Given the description of an element on the screen output the (x, y) to click on. 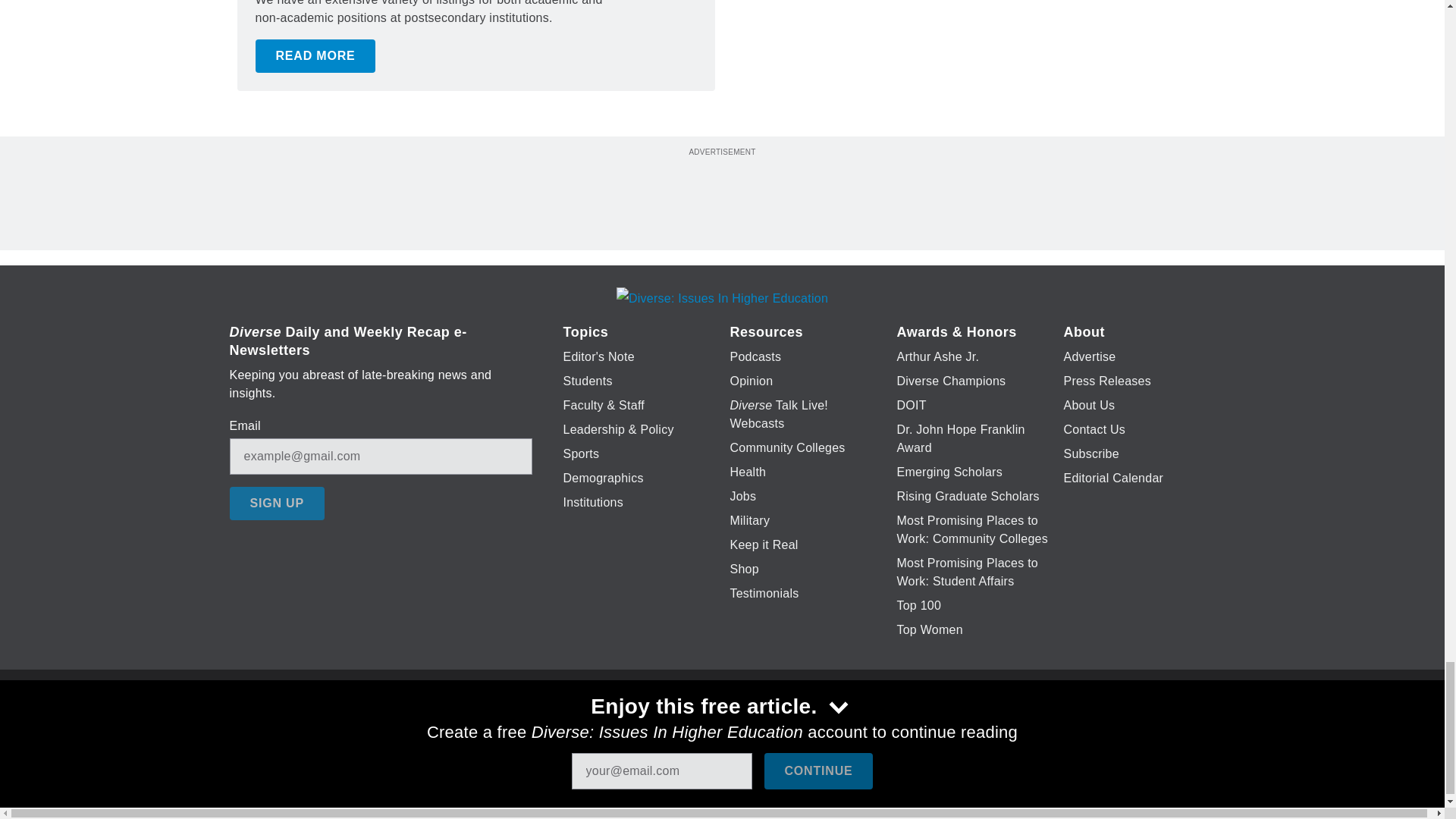
LinkedIn icon (718, 727)
Facebook icon (635, 727)
Instagram icon (796, 727)
Twitter X icon (674, 727)
YouTube icon (757, 727)
